Given the description of an element on the screen output the (x, y) to click on. 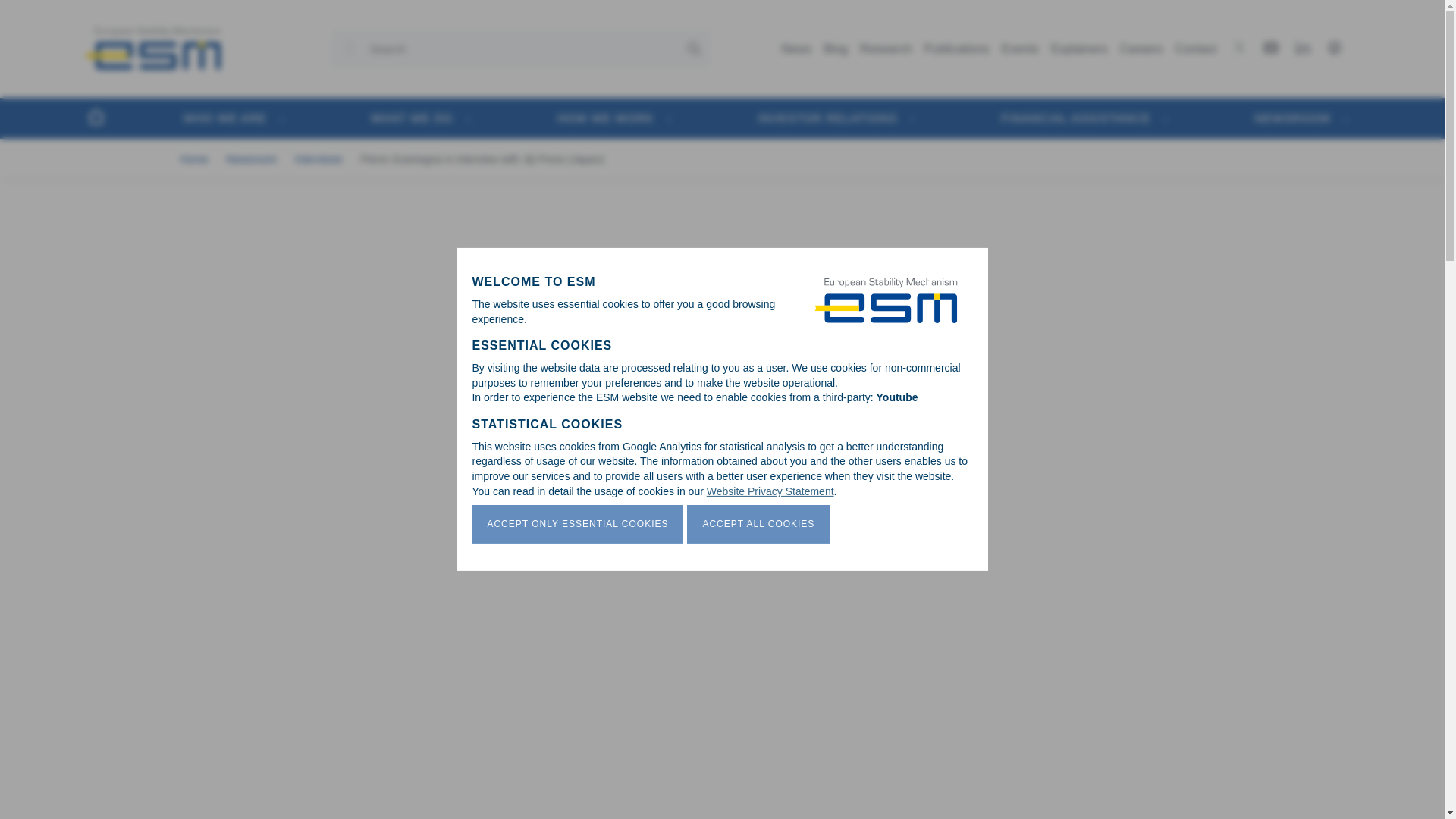
Search (117, 33)
Blog (834, 48)
Careers (1141, 48)
Home (152, 48)
News (795, 48)
WHO WE ARE (225, 116)
Contact (1196, 48)
Research (885, 48)
Linkedin (1306, 47)
Events (1020, 48)
Explainers (1079, 48)
Spotify (1337, 47)
Publications (956, 48)
Twitter (1242, 47)
